Given the description of an element on the screen output the (x, y) to click on. 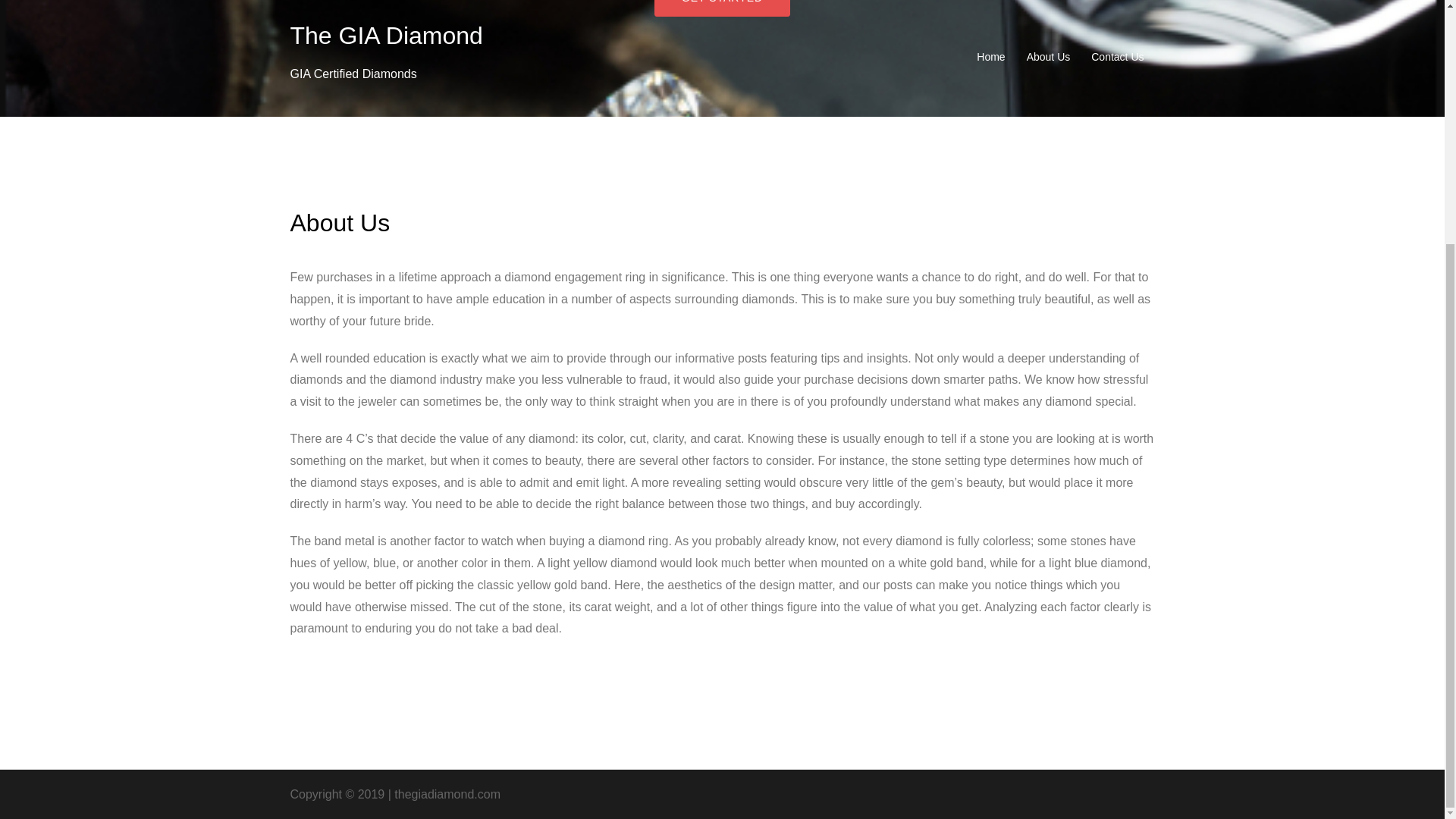
thegiadiamond.com (447, 793)
GET STARTED (721, 8)
